Given the description of an element on the screen output the (x, y) to click on. 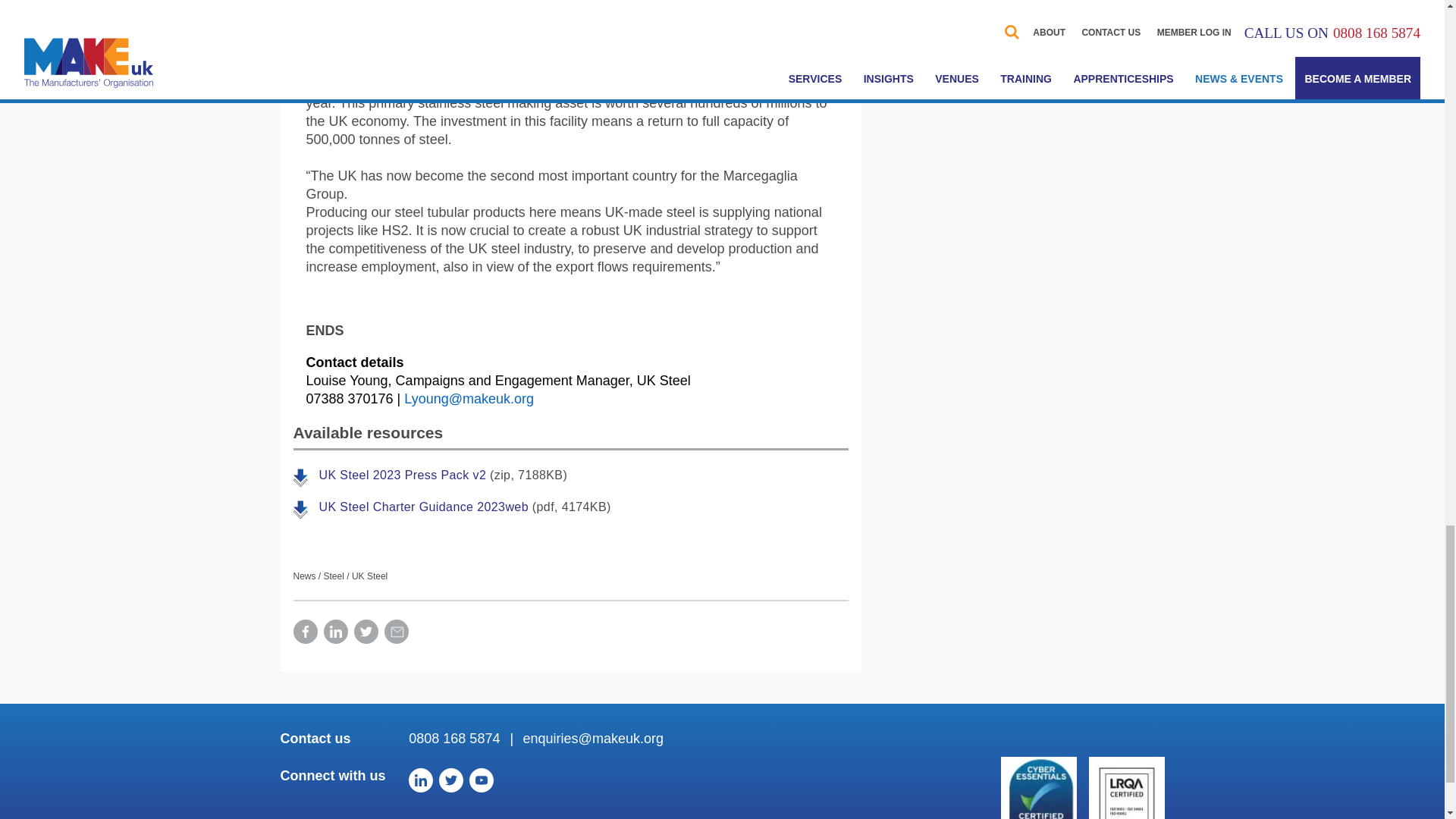
Email icon (395, 631)
Linkedin icon (420, 780)
Facebook icon (304, 631)
Twitter icon (365, 631)
Twitter icon (451, 780)
Linkedin icon (335, 631)
